Given the description of an element on the screen output the (x, y) to click on. 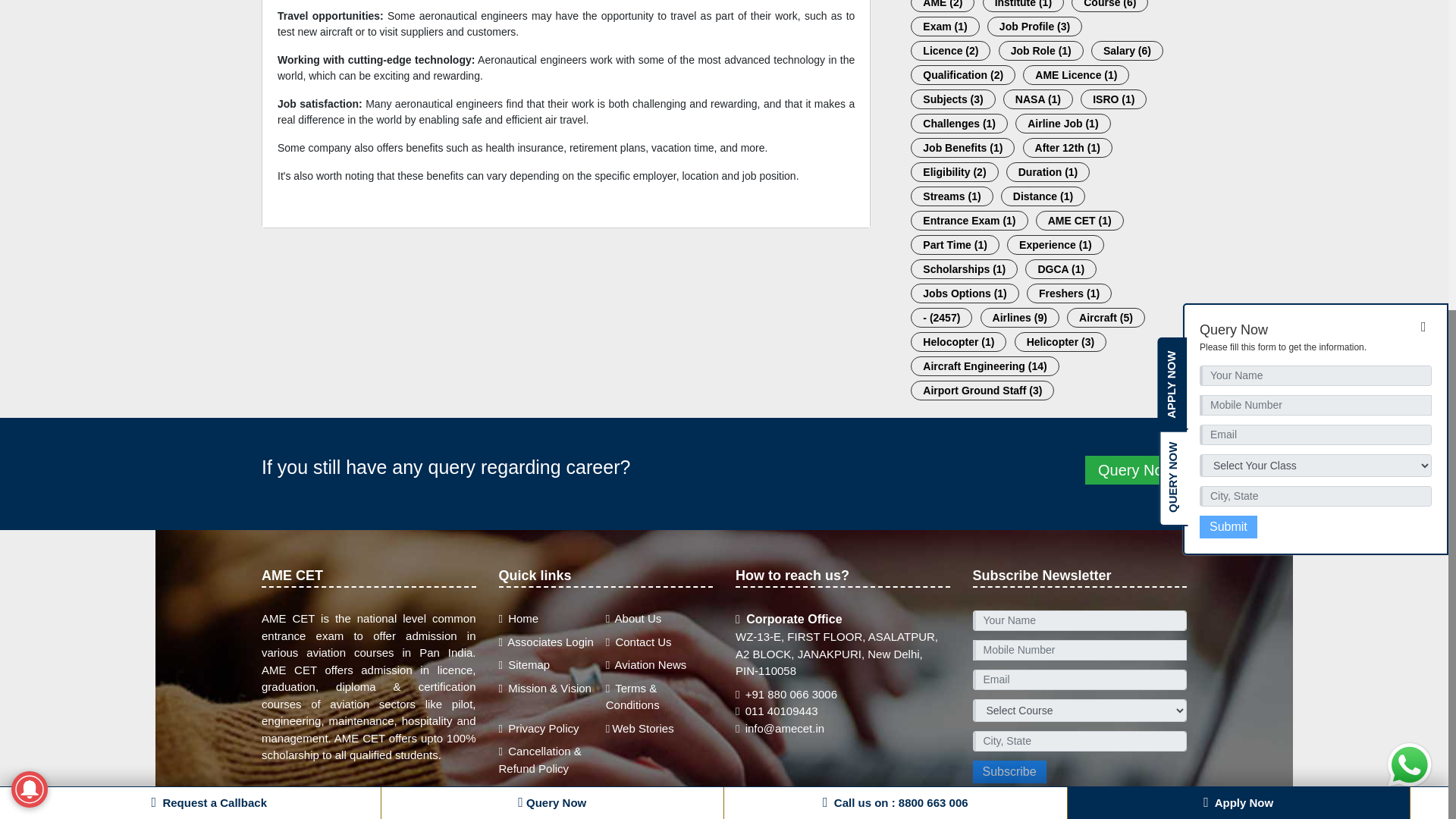
About Us (633, 617)
Contact Us (638, 641)
Associates Login (546, 641)
Aviation News (646, 664)
Home (518, 617)
Sitemap (524, 664)
Privacy Policy (539, 727)
